Given the description of an element on the screen output the (x, y) to click on. 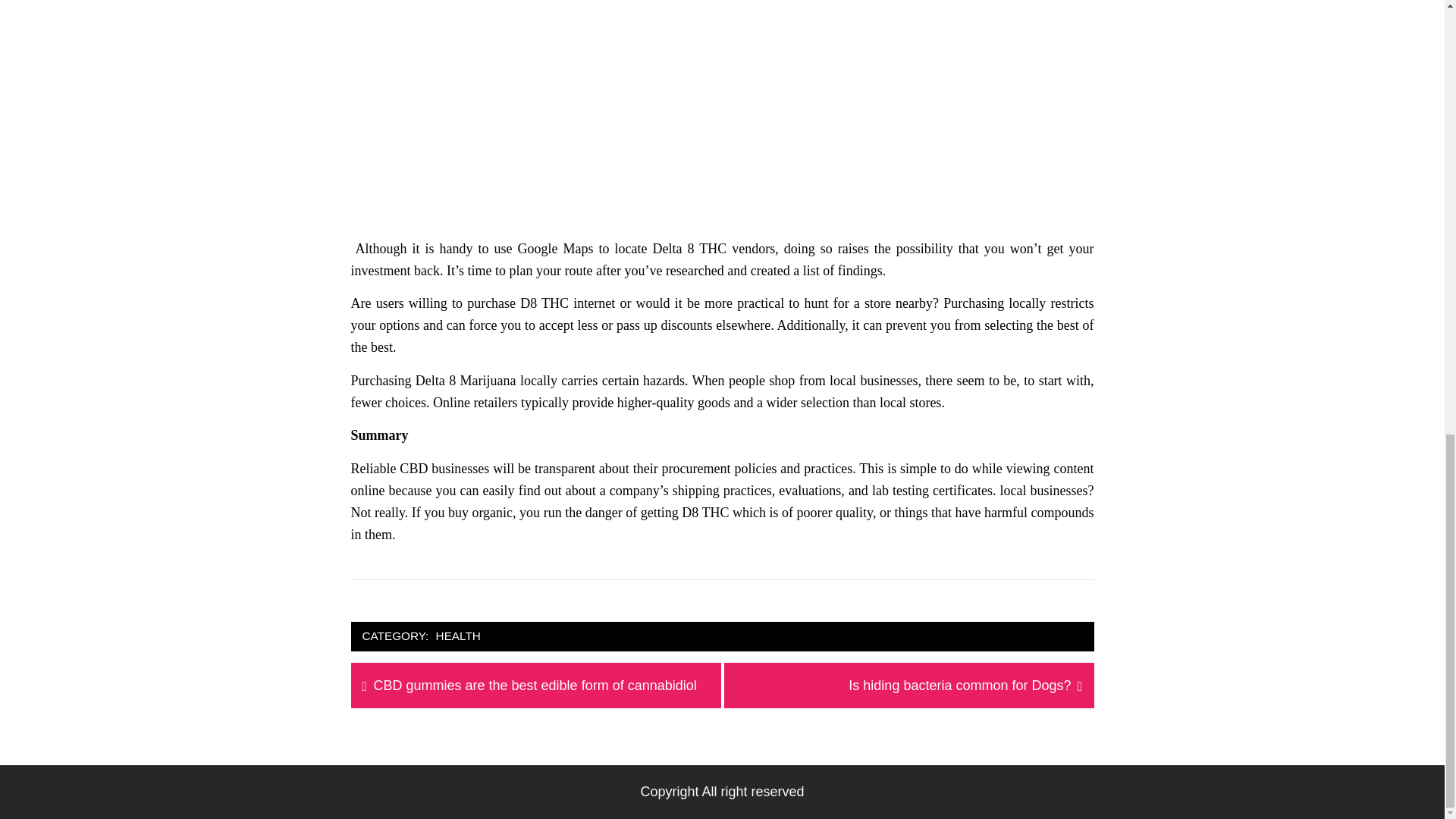
HEALTH (959, 685)
